Given the description of an element on the screen output the (x, y) to click on. 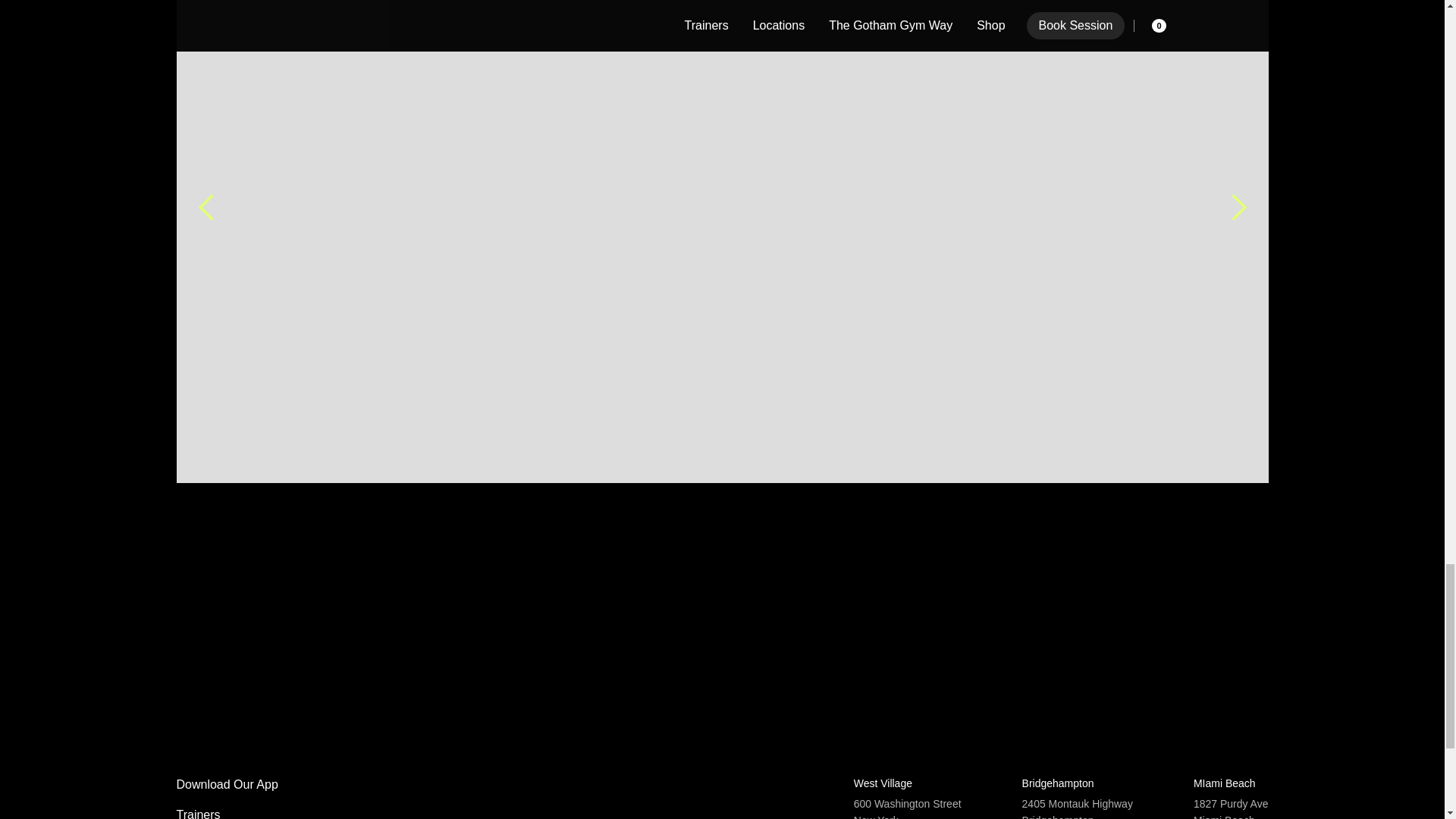
Trainers (243, 813)
Download Our App (243, 784)
